Given the description of an element on the screen output the (x, y) to click on. 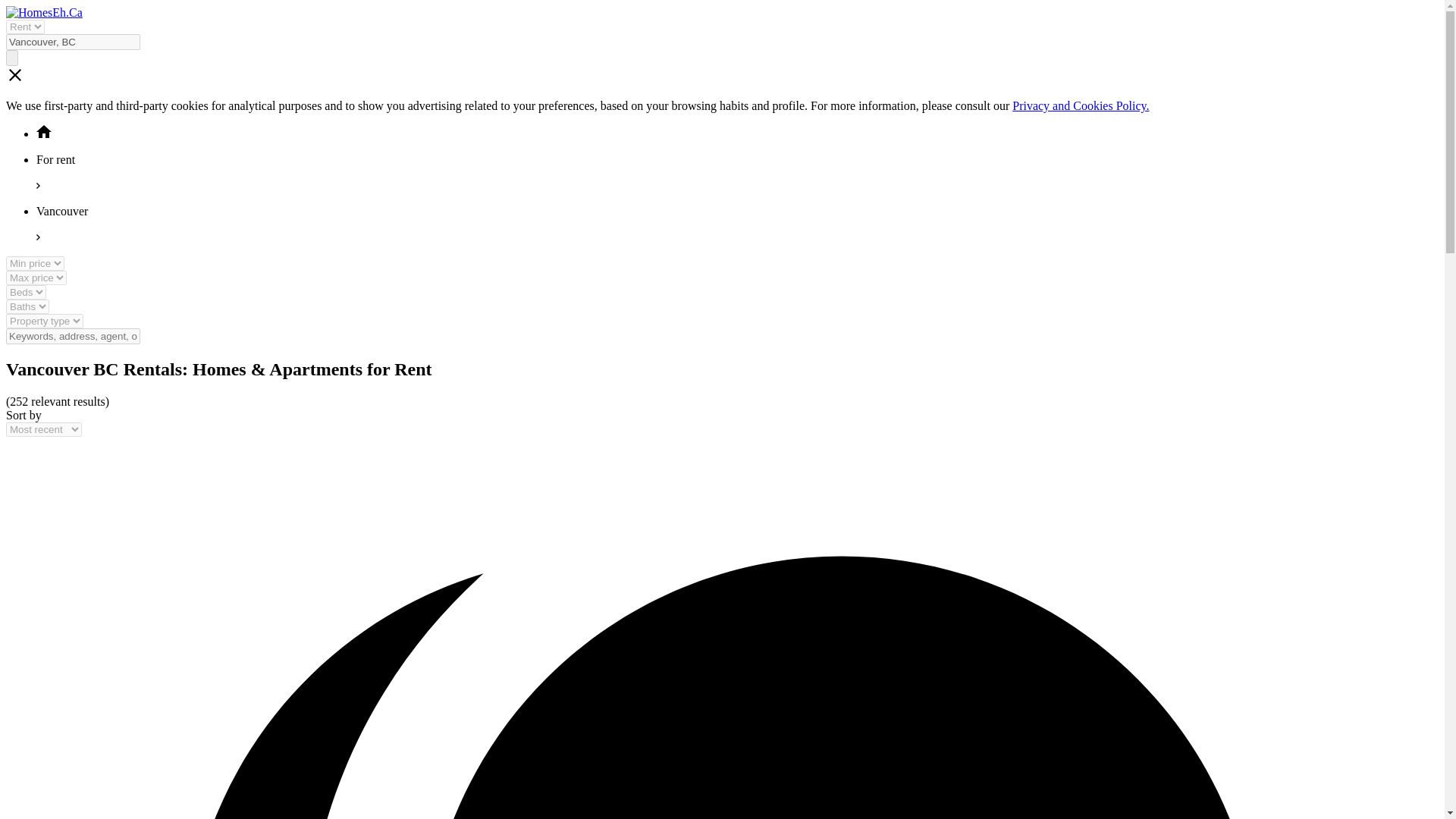
Vancouver, BC (72, 41)
Vancouver, BC (72, 41)
Privacy and Cookies Policy. (1079, 105)
